Given the description of an element on the screen output the (x, y) to click on. 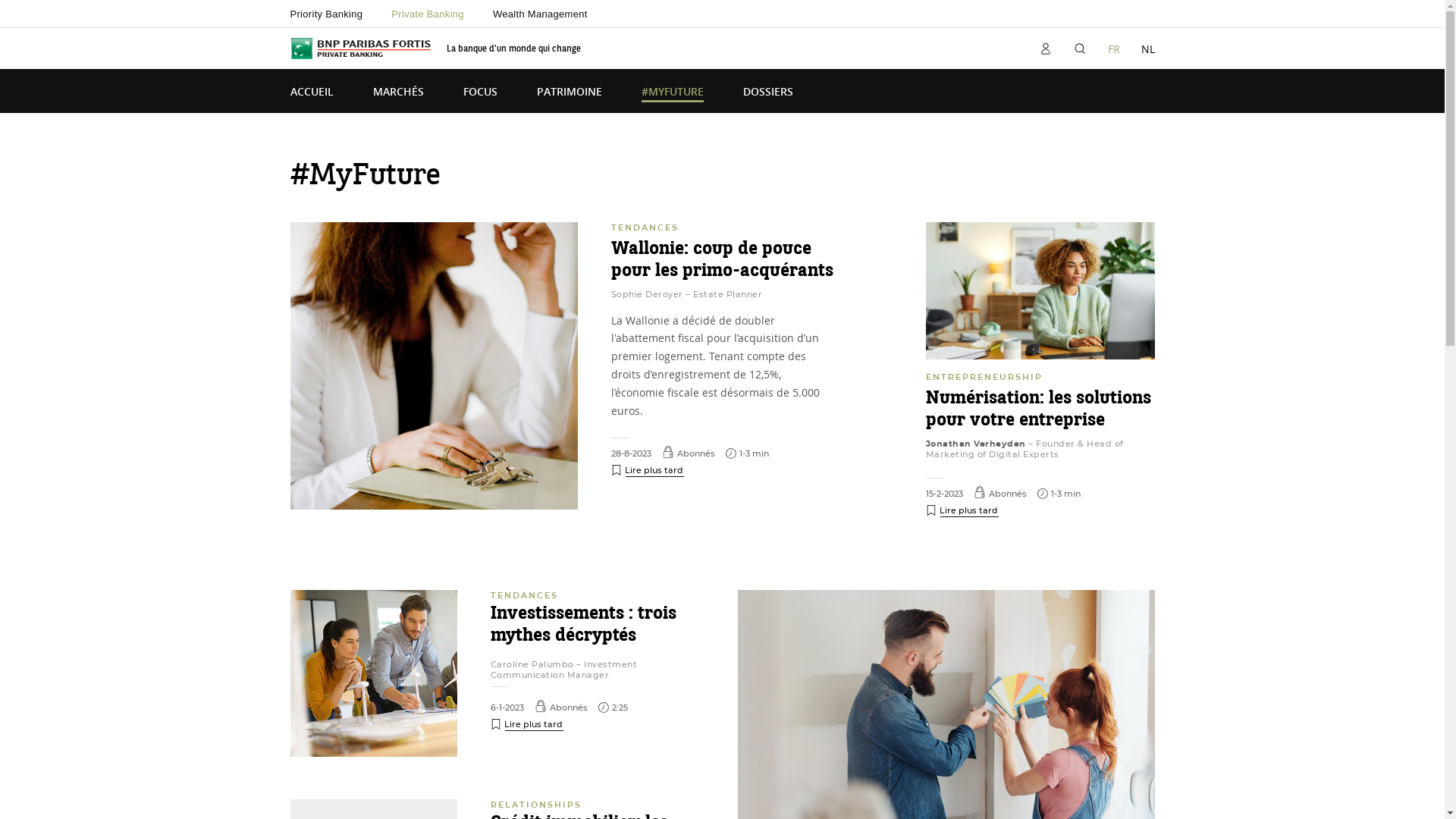
#MYFUTURE Element type: text (672, 94)
PATRIMOINE Element type: text (569, 94)
ENTREPRENEURSHIP Element type: text (983, 376)
Jonathan Verheyden Element type: text (975, 443)
Recherche Element type: hover (1079, 48)
Lire plus tard Element type: text (525, 722)
BNP Paribas Fortis Private Banking Element type: hover (359, 48)
Priority Banking Element type: text (325, 13)
FOCUS Element type: text (479, 94)
TENDANCES Element type: text (644, 227)
NL Element type: text (1147, 48)
TENDANCES Element type: text (523, 594)
Wealth Management Element type: text (539, 13)
DOSSIERS Element type: text (768, 94)
ACCUEIL Element type: text (310, 94)
Lire plus tard Element type: text (961, 508)
Mon profil Element type: hover (1044, 48)
RELATIONSHIPS Element type: text (534, 804)
Private Banking Element type: text (427, 13)
Lire plus tard Element type: text (647, 468)
MyExperts Element type: hover (721, 48)
